Given the description of an element on the screen output the (x, y) to click on. 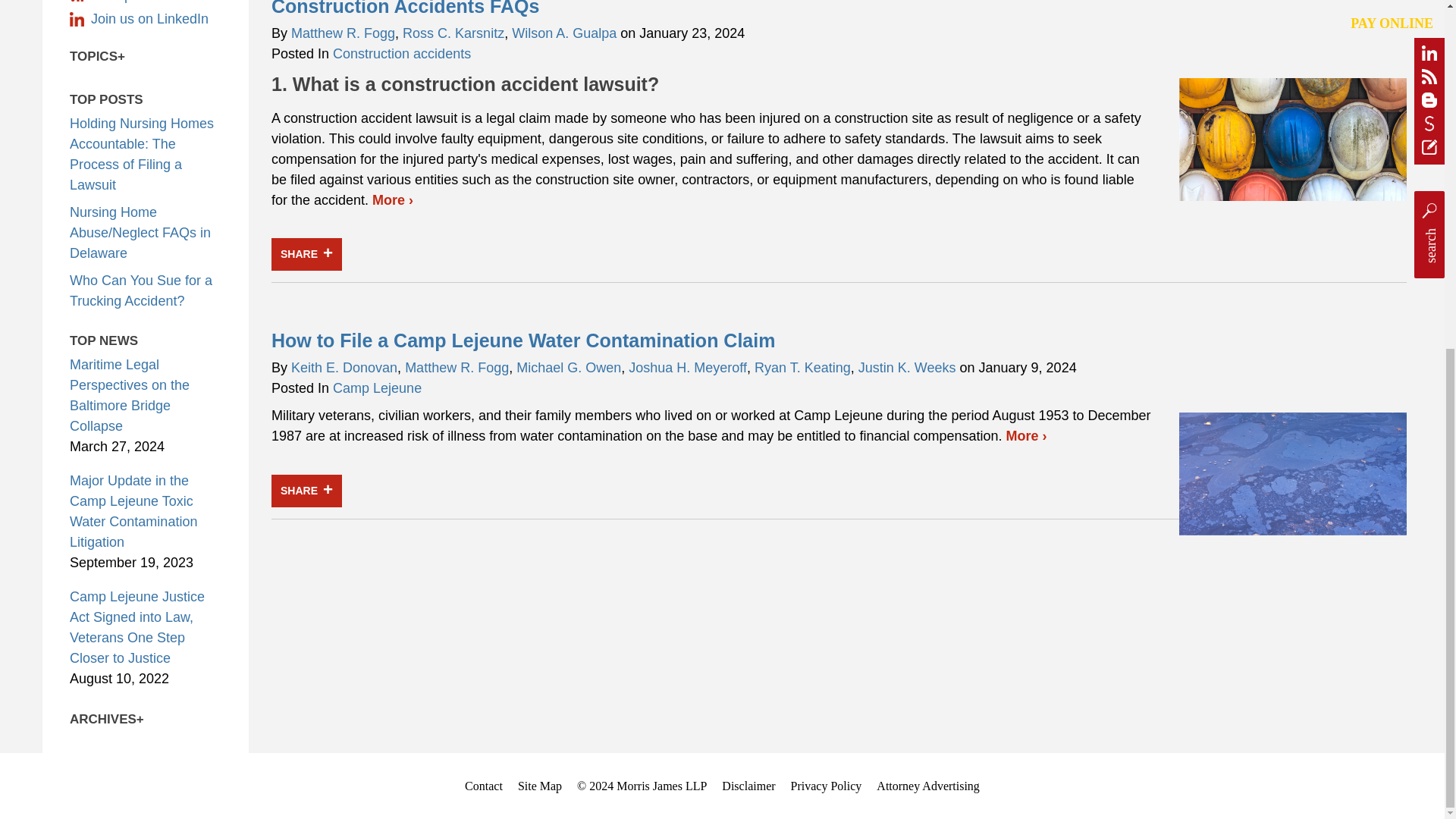
Who Can You Sue for a Trucking Accident? (140, 290)
Maritime Legal Perspectives on the Baltimore Bridge Collapse (129, 395)
JDSupra (145, 2)
Join us on LinkedIn (145, 19)
LinkedIn (145, 19)
JDSupra RSS (145, 2)
